Given the description of an element on the screen output the (x, y) to click on. 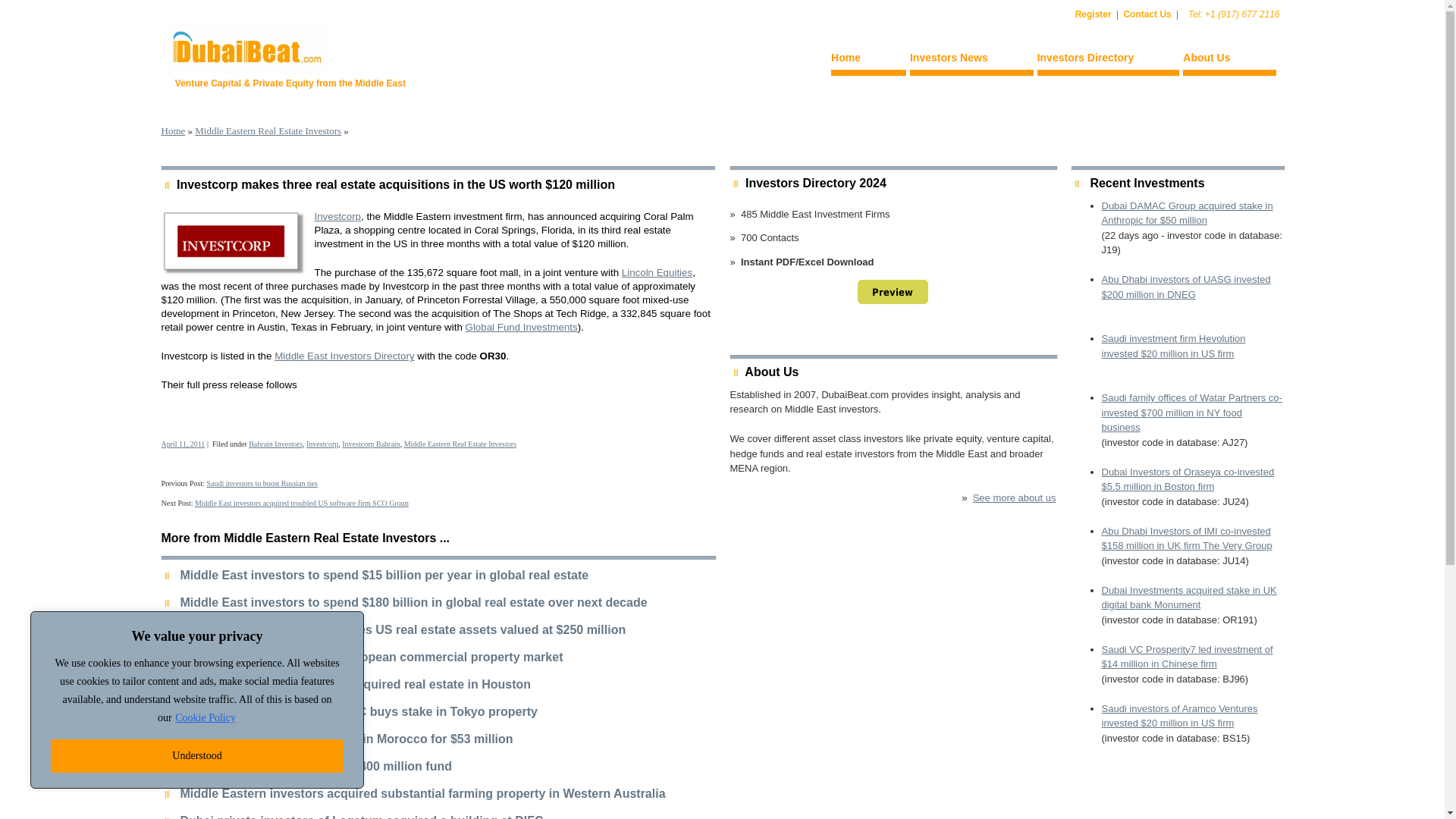
Investors Directory (1107, 60)
Contact Us (1146, 14)
Cookie Policy (204, 717)
About Us (1228, 60)
Understood (196, 756)
Home (868, 60)
Investors News (971, 60)
Register (1094, 14)
